Given the description of an element on the screen output the (x, y) to click on. 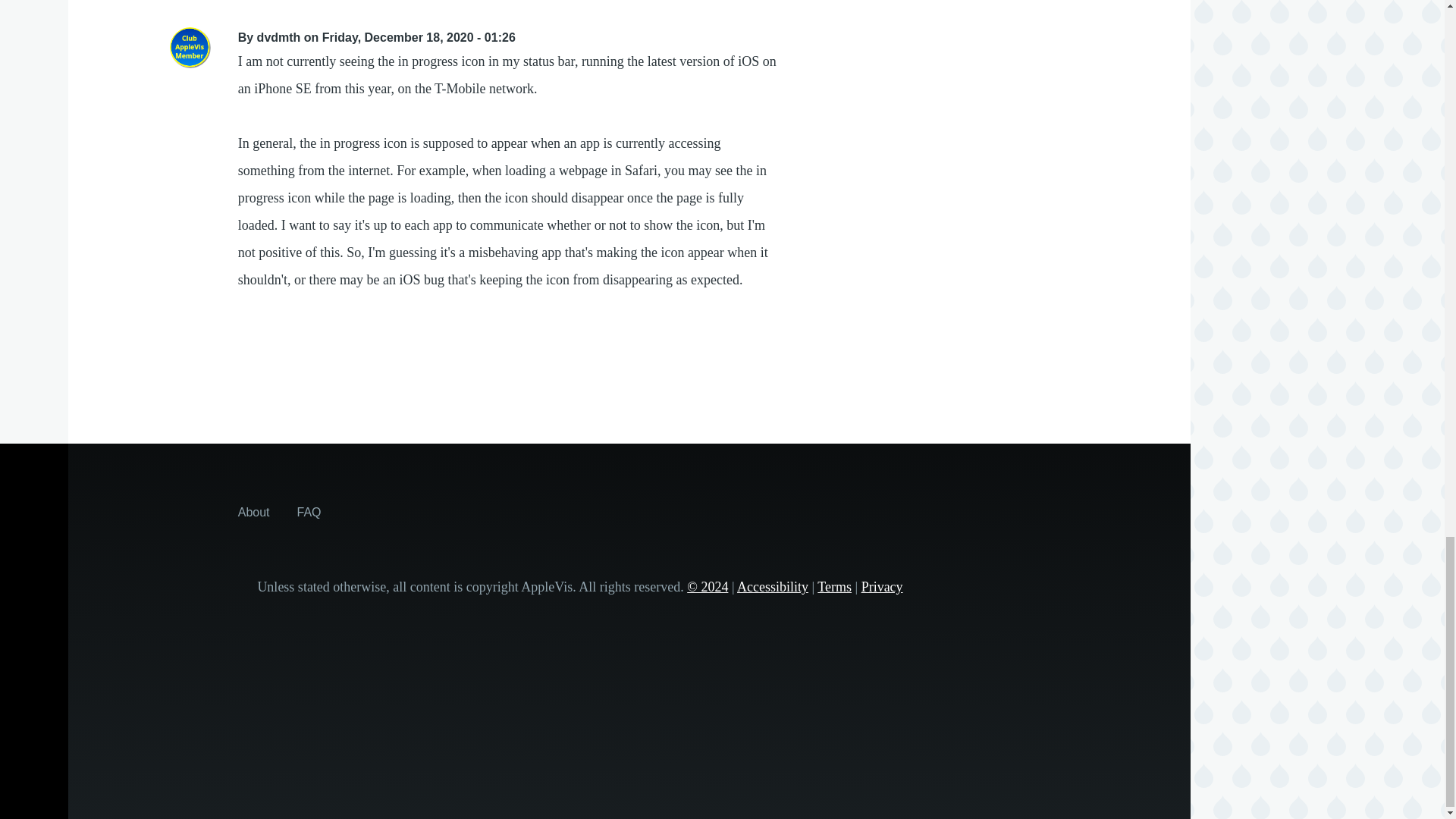
About (253, 511)
Terms (833, 586)
Privacy (881, 586)
About (253, 511)
Accessibility (772, 586)
